Given the description of an element on the screen output the (x, y) to click on. 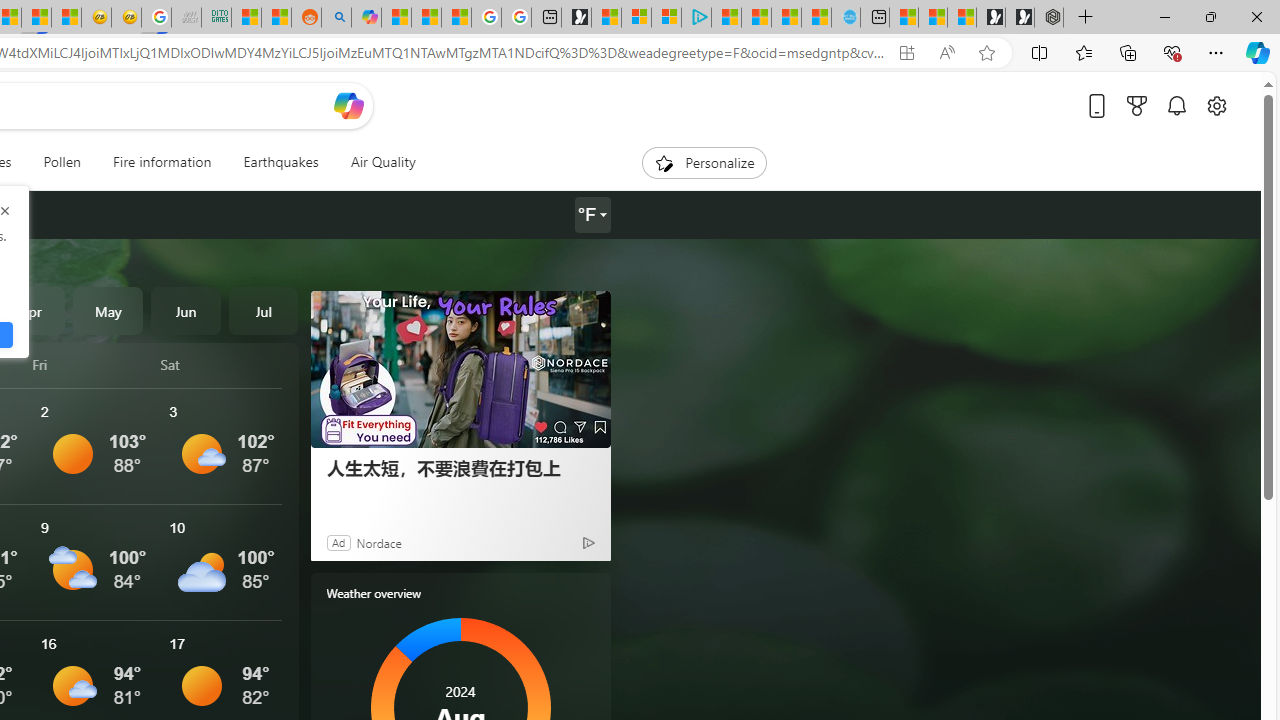
May (107, 310)
Air Quality (375, 162)
Fire information (161, 162)
Earthquakes (280, 162)
May (107, 310)
